Given the description of an element on the screen output the (x, y) to click on. 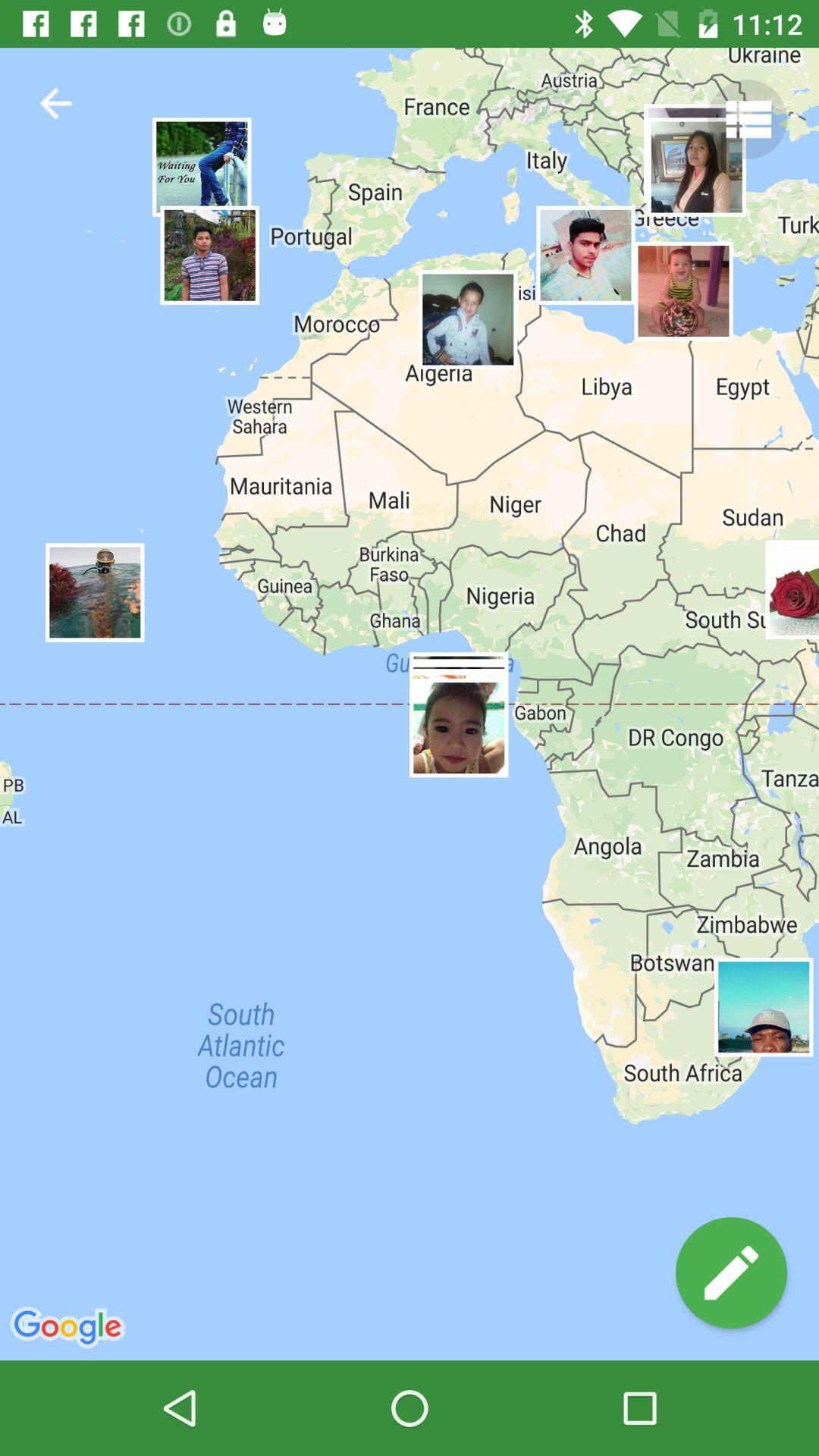
application menu (747, 119)
